Given the description of an element on the screen output the (x, y) to click on. 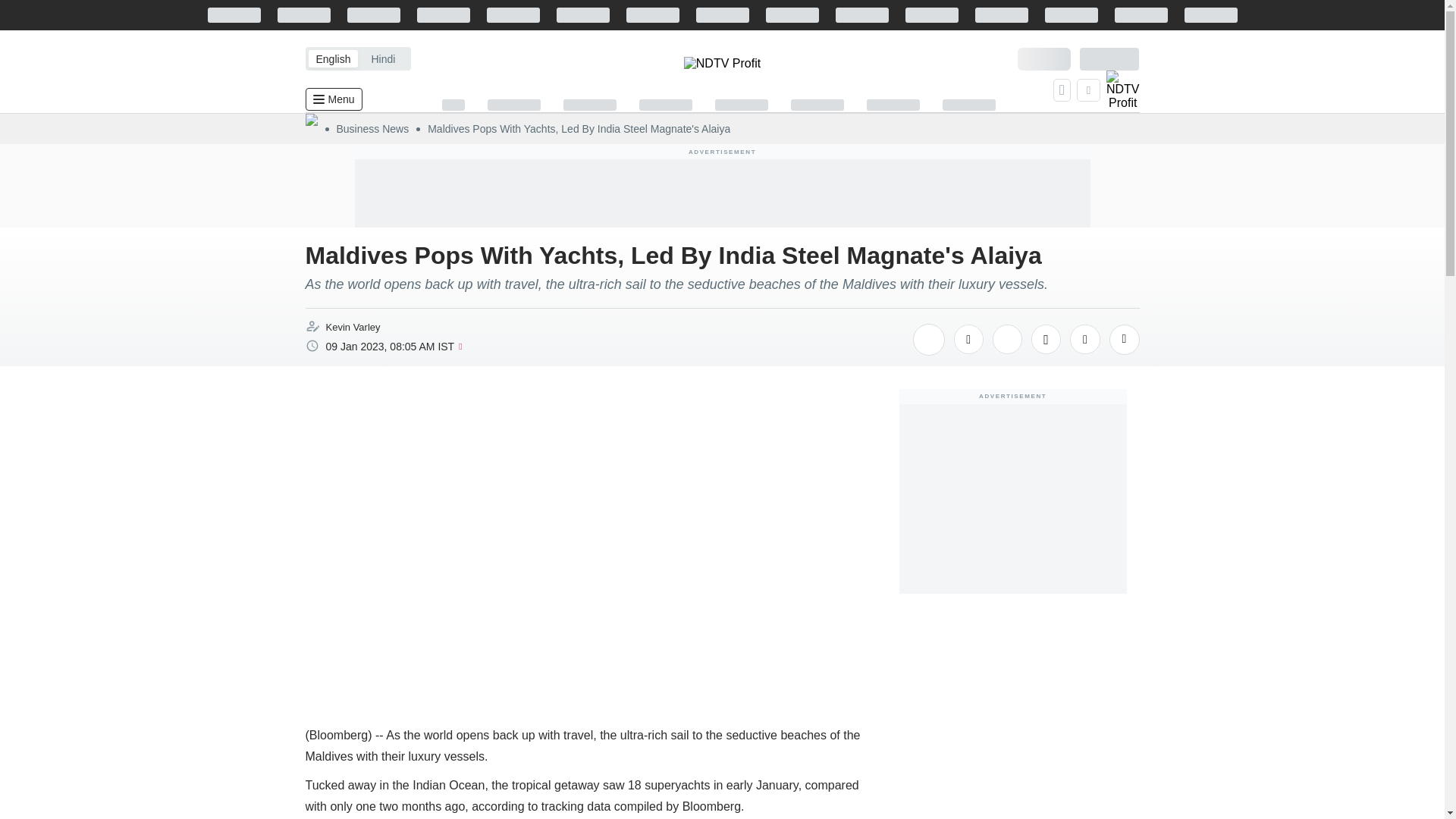
Menu (332, 98)
Hindi (382, 58)
English (332, 58)
Hindi (382, 58)
